Given the description of an element on the screen output the (x, y) to click on. 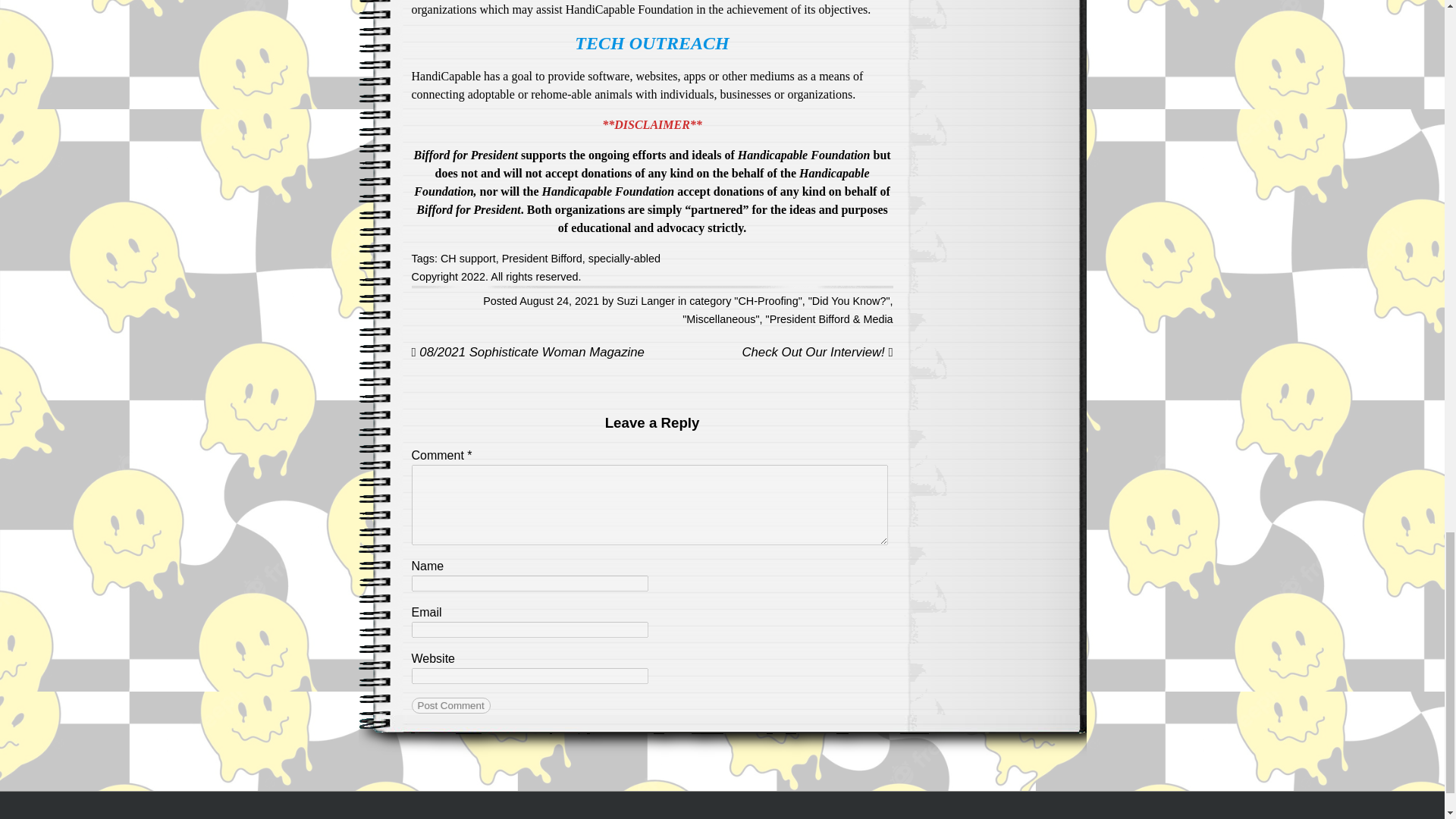
President Bifford (542, 258)
Post Comment (449, 705)
Check Out Our Interview! (816, 352)
CH-Proofing (767, 300)
Miscellaneous (720, 318)
Post Comment (449, 705)
specially-abled (624, 258)
CH support (468, 258)
Did You Know? (849, 300)
